Given the description of an element on the screen output the (x, y) to click on. 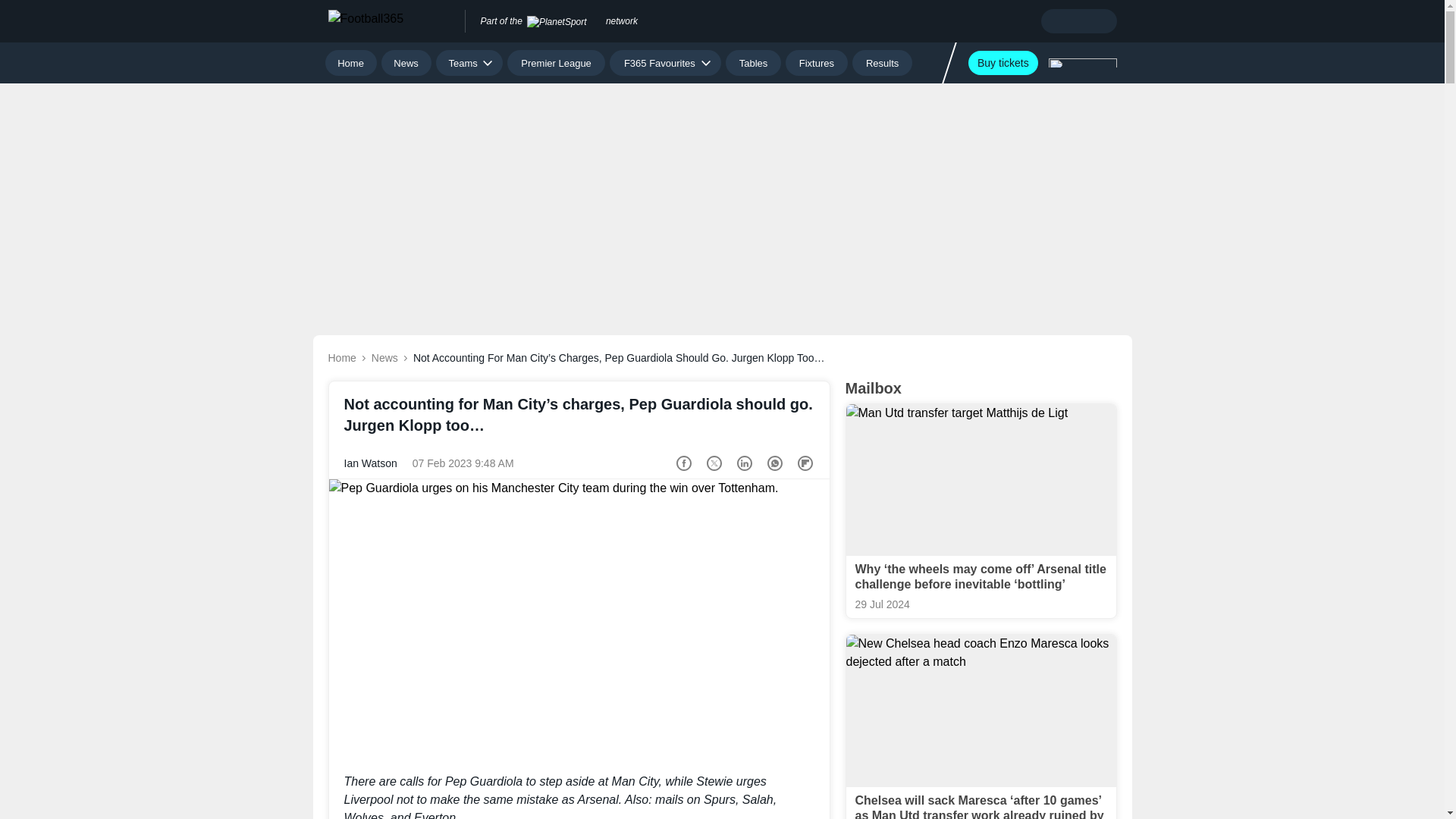
Home (349, 62)
News (405, 62)
Tables (752, 62)
Fixtures (817, 62)
Results (881, 62)
F365 Favourites (665, 62)
Premier League (555, 62)
Buy tickets (1003, 62)
Teams (468, 62)
